Given the description of an element on the screen output the (x, y) to click on. 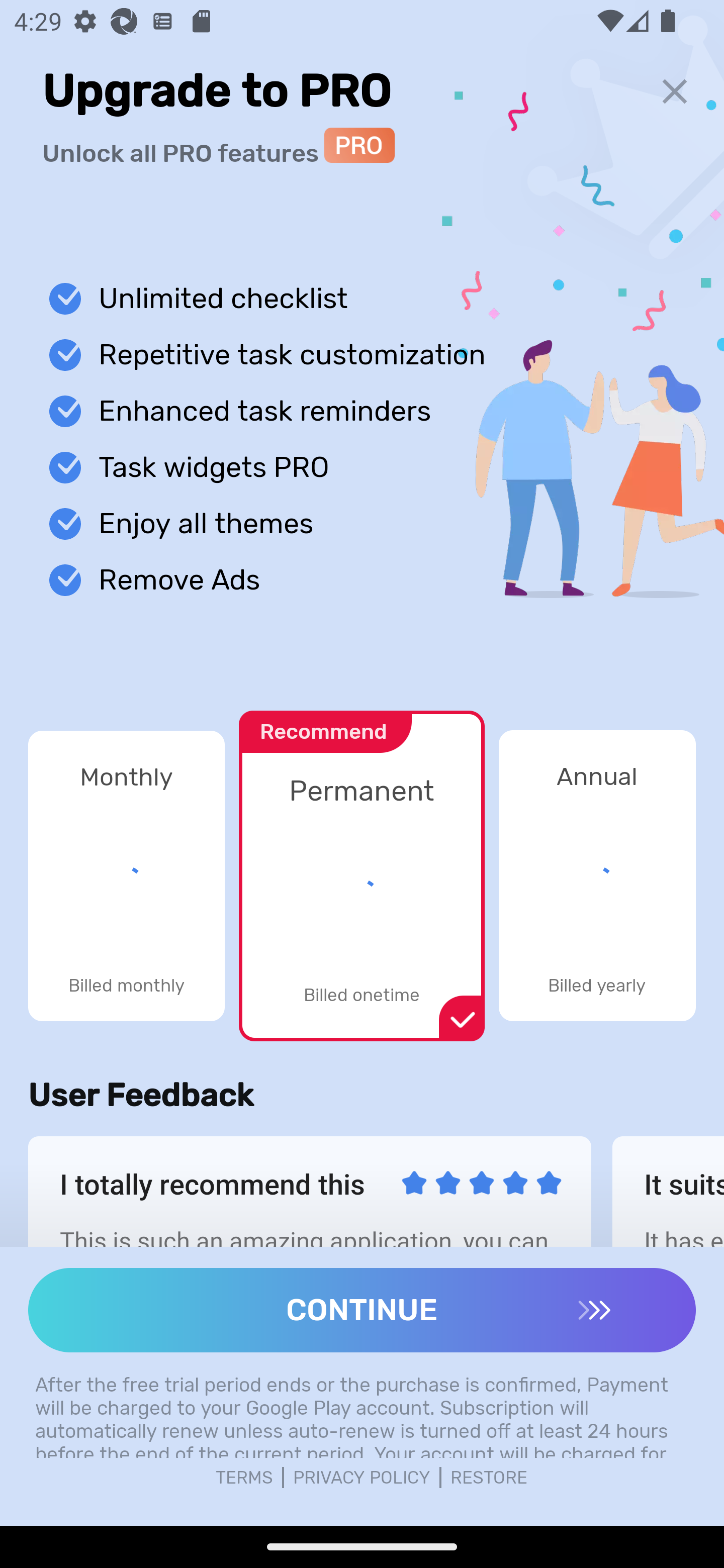
Recommend Permanent Billed onetime (361, 865)
Annual Billed yearly (596, 875)
Monthly Billed monthly (126, 875)
CONTINUE (361, 1309)
RESTORE (489, 1477)
